Given the description of an element on the screen output the (x, y) to click on. 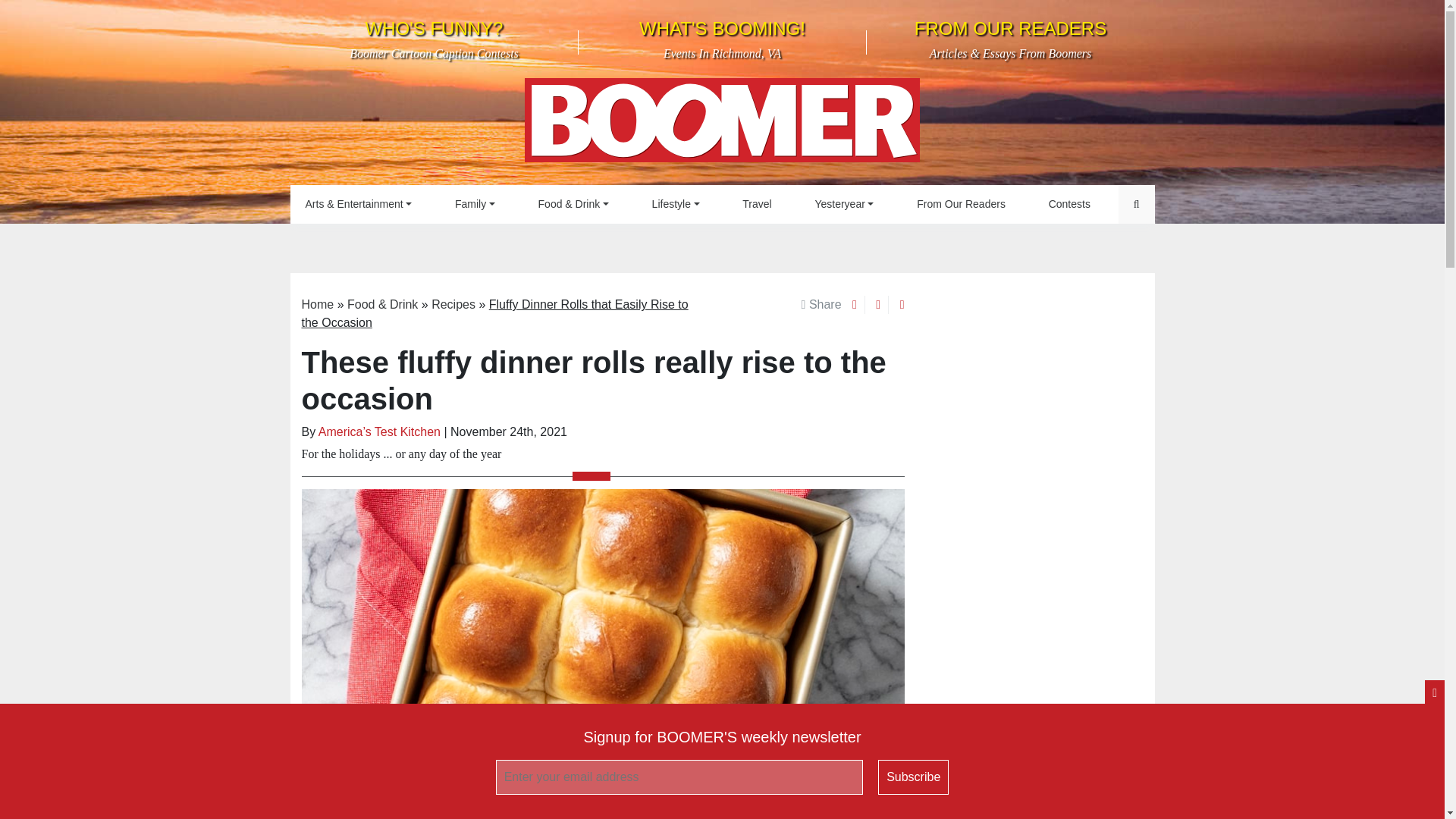
Travel (756, 204)
Subscribe (913, 777)
Lifestyle (675, 204)
Family (722, 39)
Family (475, 204)
BOOMER Magazine (475, 204)
From Our Readers (722, 124)
Contests (960, 204)
Yesteryear (1069, 204)
